Given the description of an element on the screen output the (x, y) to click on. 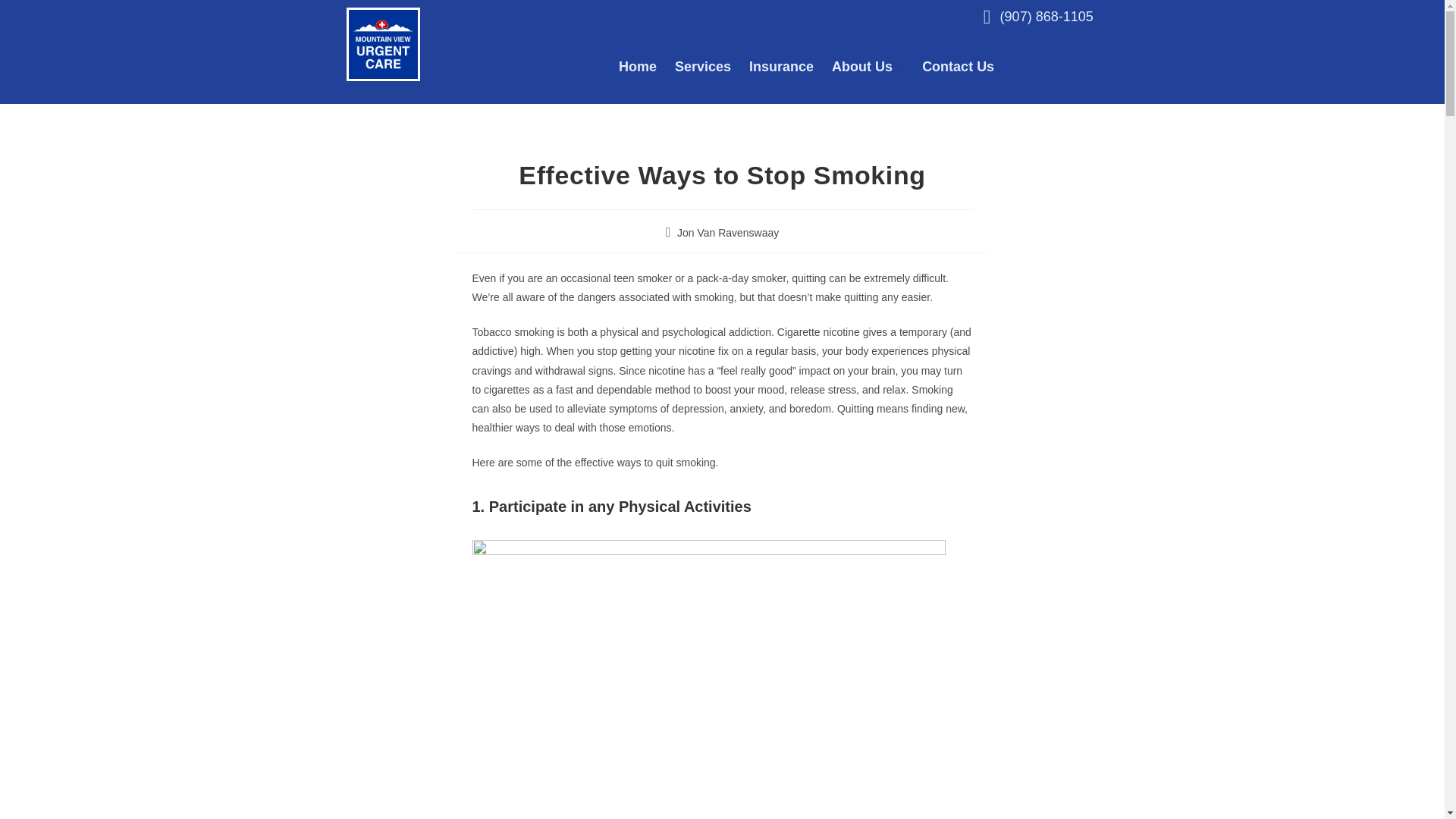
Jon Van Ravenswaay (727, 232)
Home (646, 66)
Insurance (790, 66)
Services (712, 66)
Posts by Jon Van Ravenswaay (727, 232)
Contact Us (966, 66)
About Us (876, 66)
